Given the description of an element on the screen output the (x, y) to click on. 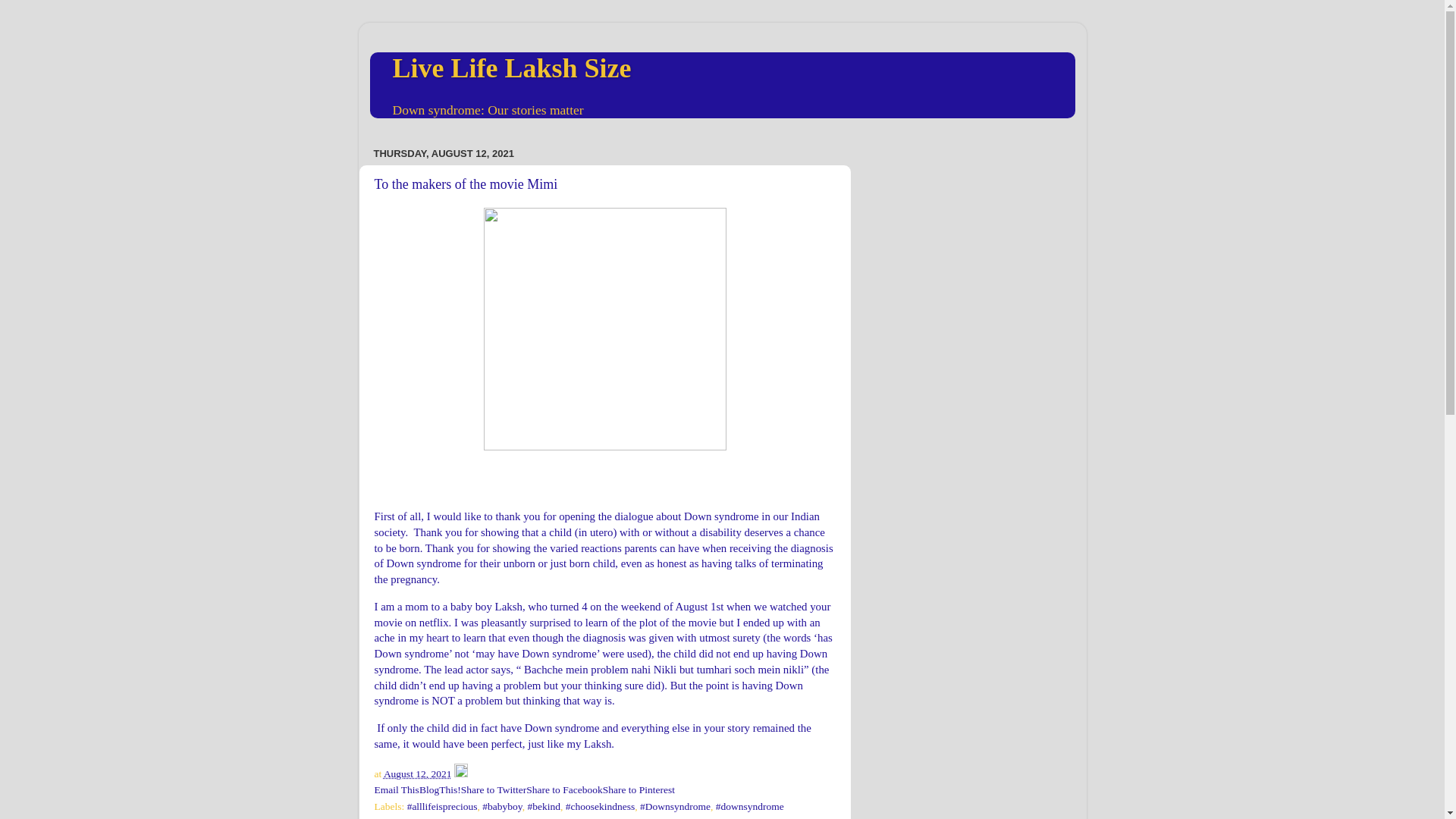
Live Life Laksh Size (512, 68)
Share to Pinterest (638, 789)
BlogThis! (440, 789)
Share to Pinterest (638, 789)
Share to Facebook (563, 789)
permanent link (417, 773)
August 12, 2021 (417, 773)
BlogThis! (440, 789)
Email This (396, 789)
Share to Twitter (494, 789)
